Given the description of an element on the screen output the (x, y) to click on. 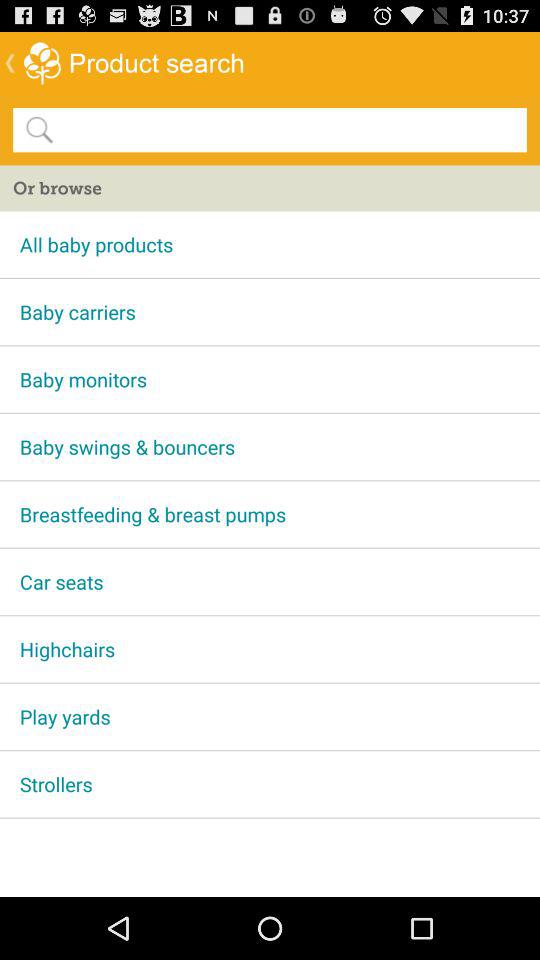
search (289, 129)
